Given the description of an element on the screen output the (x, y) to click on. 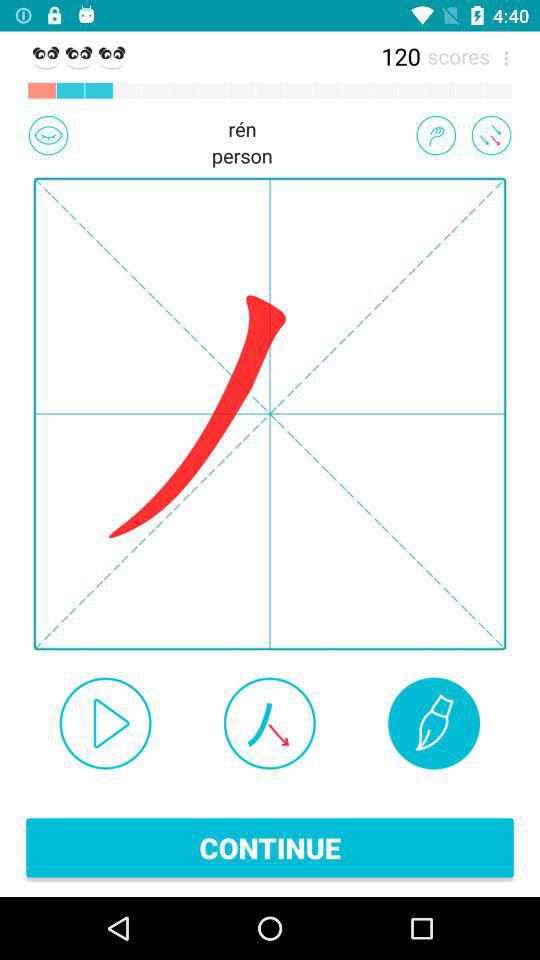
open continue item (269, 847)
